Given the description of an element on the screen output the (x, y) to click on. 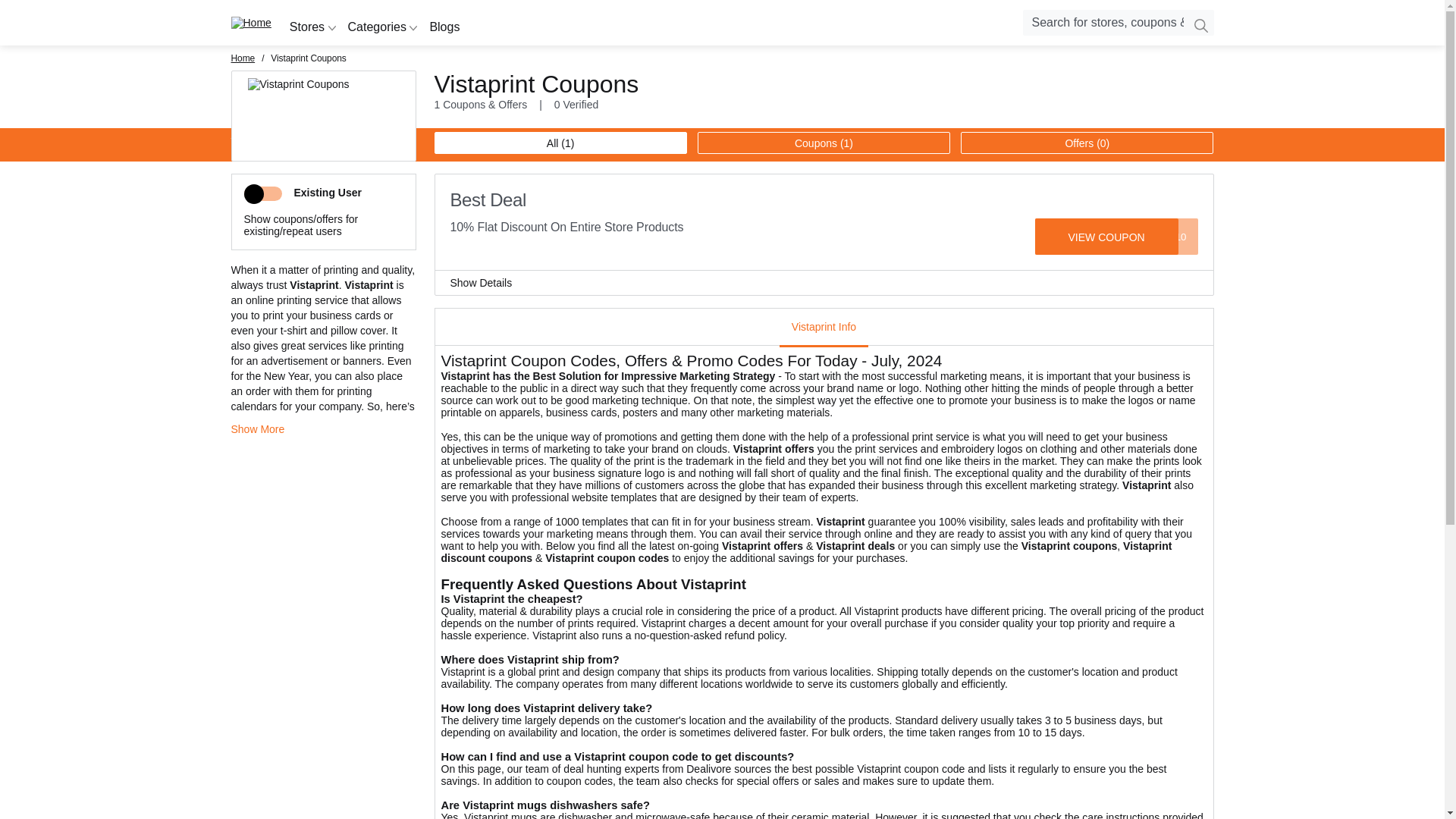
Vistaprint Coupons (322, 142)
Home (250, 22)
Stores (312, 26)
